Given the description of an element on the screen output the (x, y) to click on. 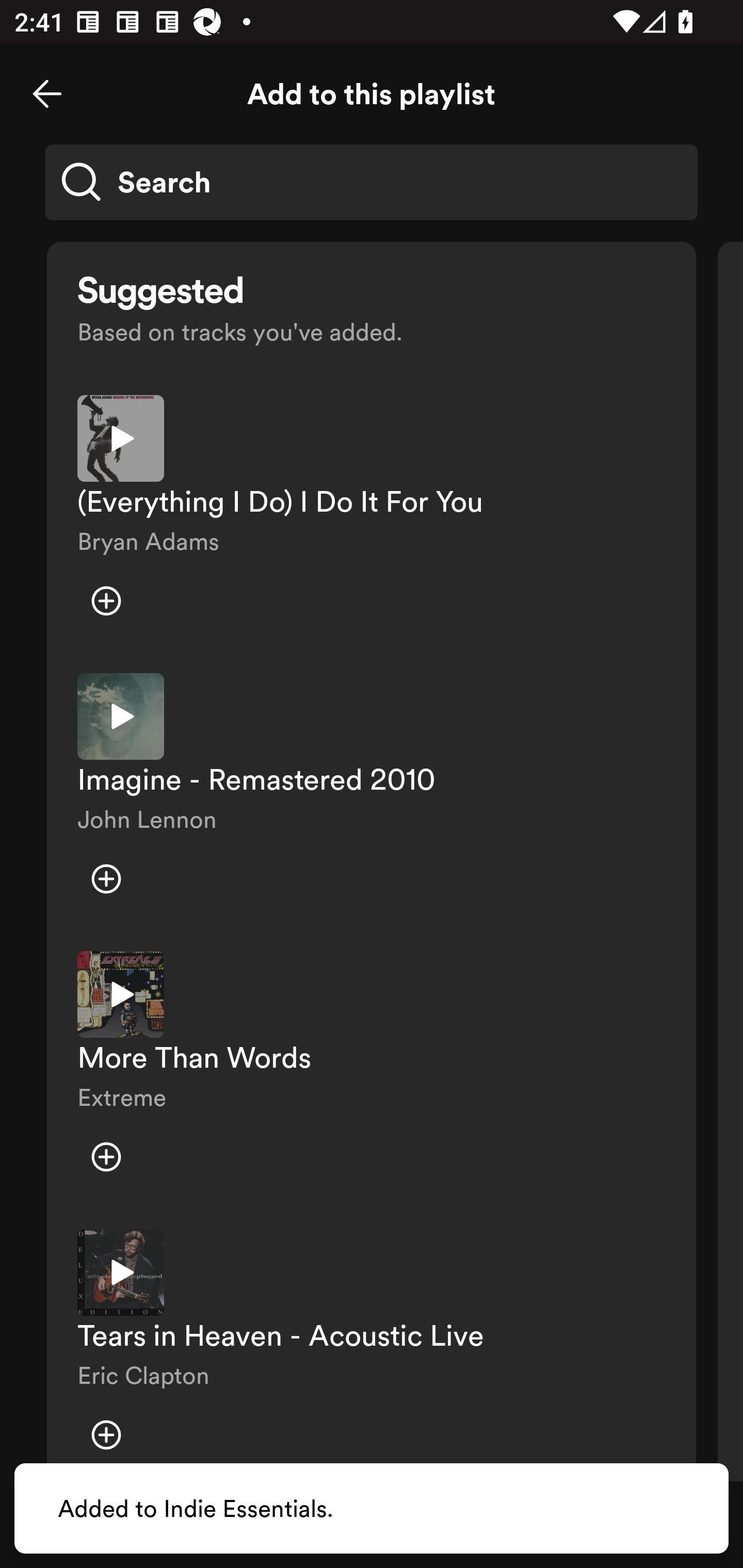
Close (46, 93)
Search (371, 181)
Play preview (120, 438)
Add item (106, 601)
Play preview (120, 716)
Add item (106, 878)
Play preview More Than Words Extreme Add item (371, 1075)
Play preview (120, 994)
Add item (106, 1156)
Play preview (120, 1272)
Add item (106, 1435)
